Given the description of an element on the screen output the (x, y) to click on. 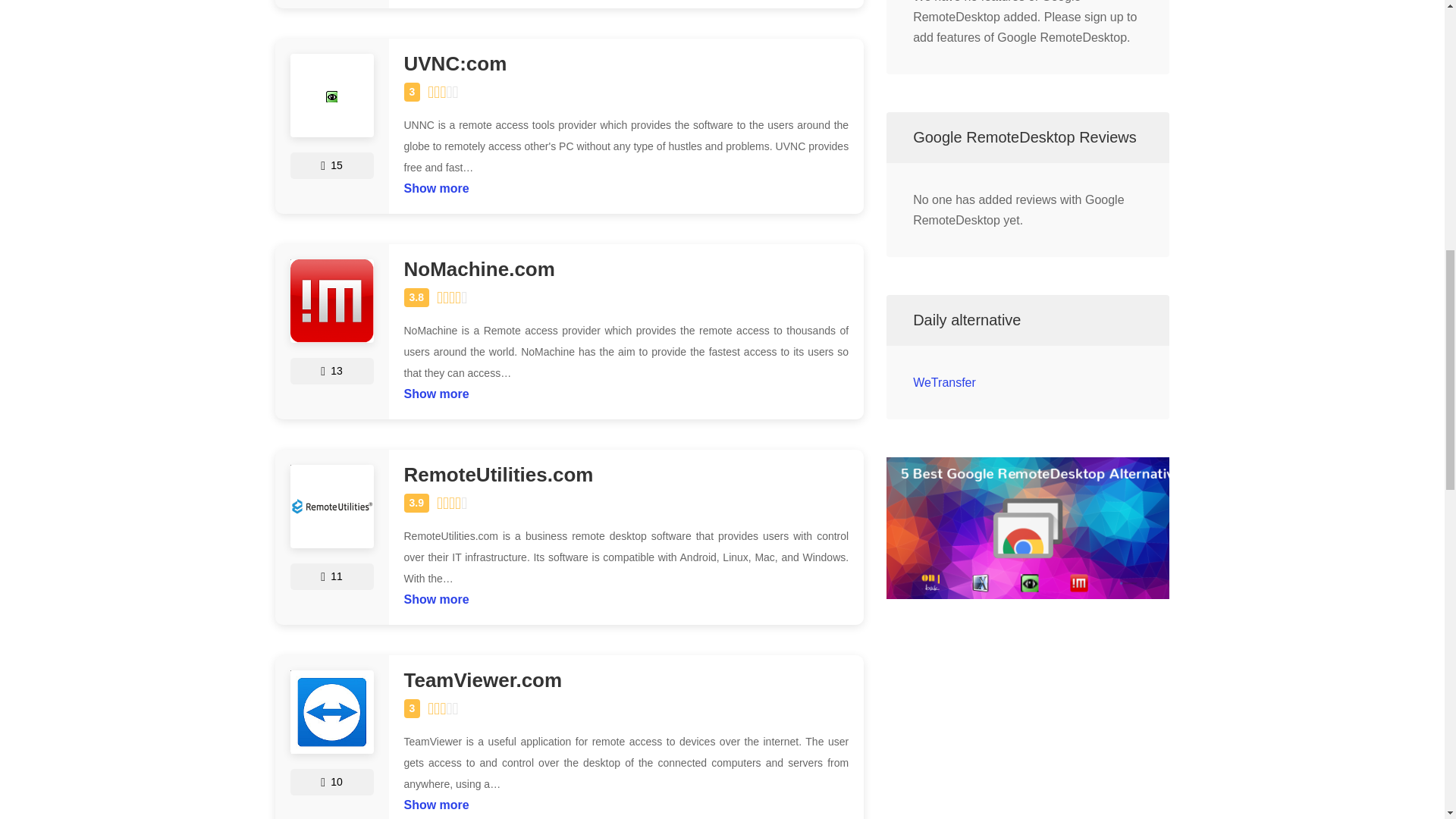
Show more (435, 595)
NoMachine.com (625, 269)
Show more (435, 801)
Show more (435, 390)
UVNC:com (625, 64)
WeTransfer (943, 382)
RemoteUtilities.com (625, 475)
Show more (435, 184)
TeamViewer.com (625, 680)
